Given the description of an element on the screen output the (x, y) to click on. 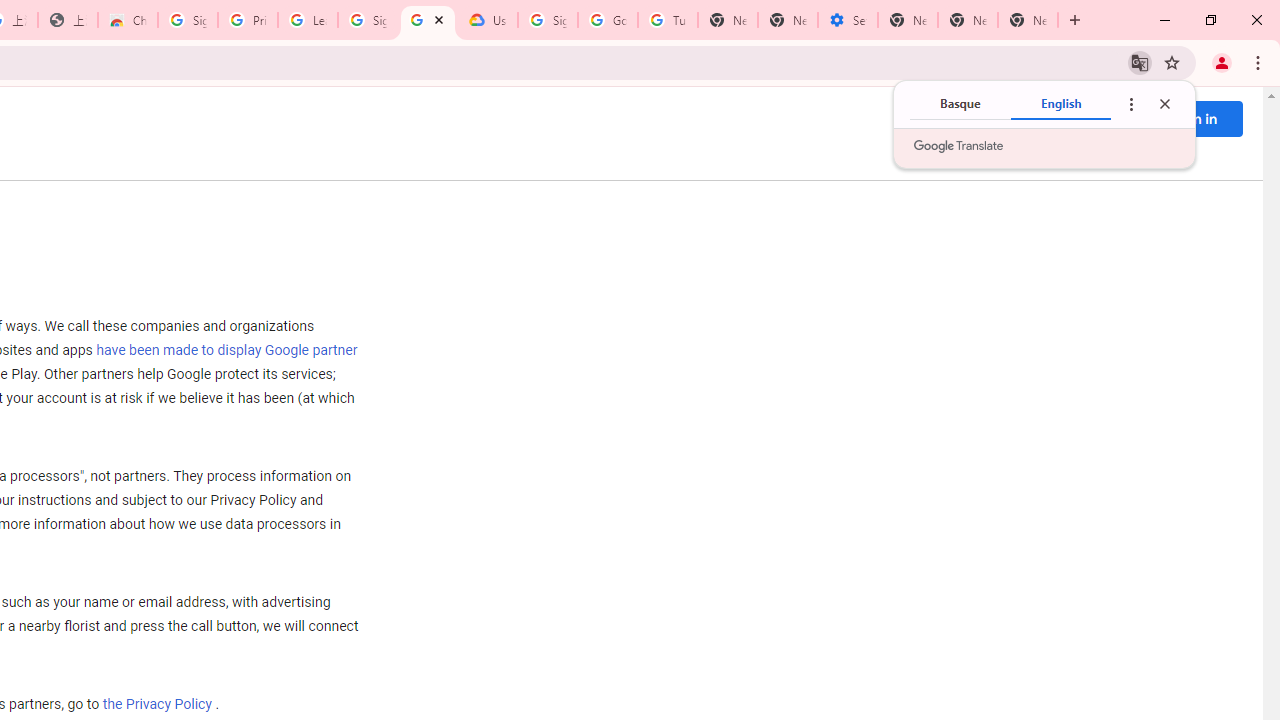
Basque (960, 103)
the Privacy Policy (157, 705)
Sign in - Google Accounts (187, 20)
Sign in - Google Accounts (367, 20)
New Tab (908, 20)
Settings - Addresses and more (847, 20)
